Given the description of an element on the screen output the (x, y) to click on. 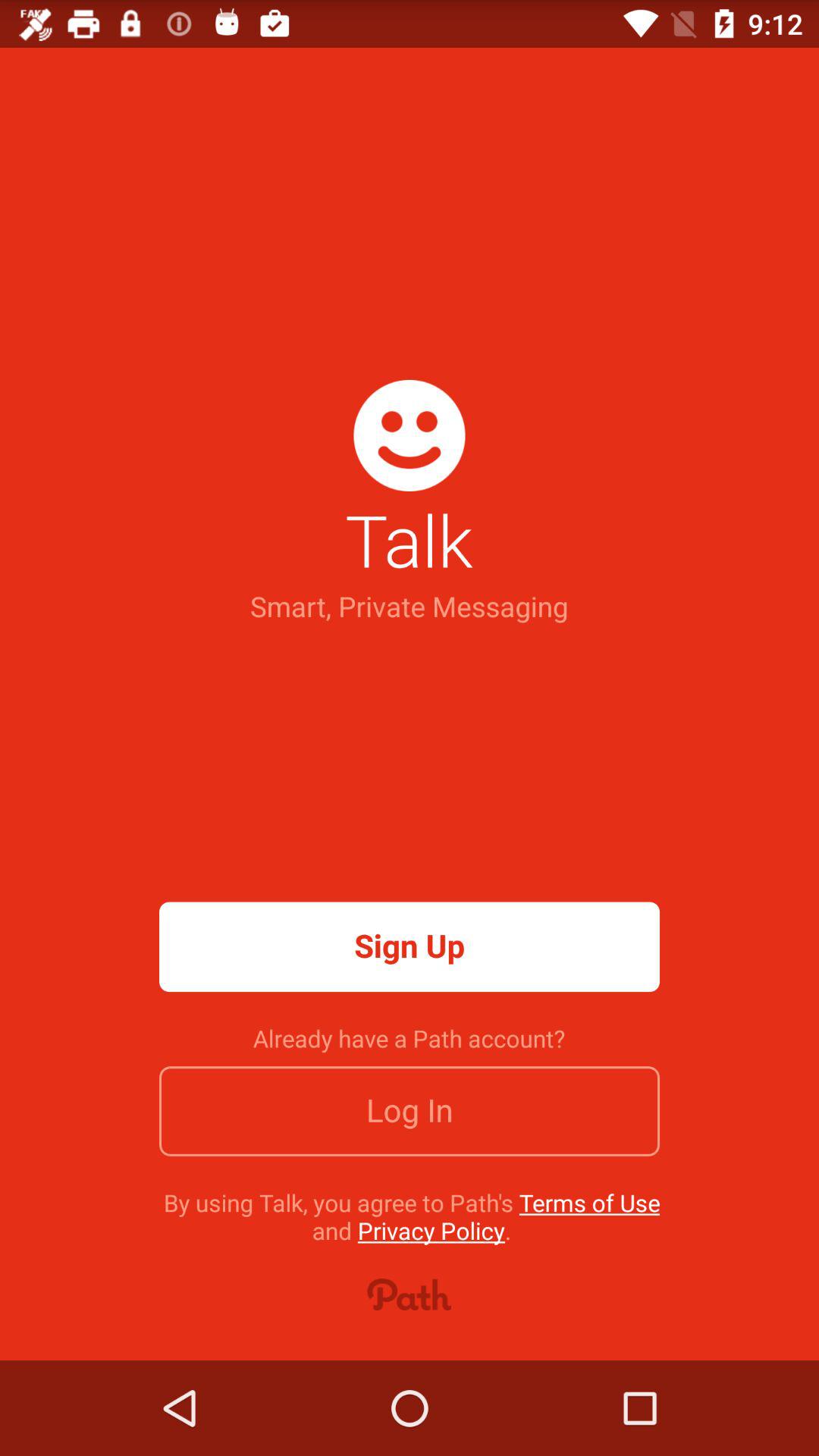
choose icon below the log in icon (411, 1216)
